Given the description of an element on the screen output the (x, y) to click on. 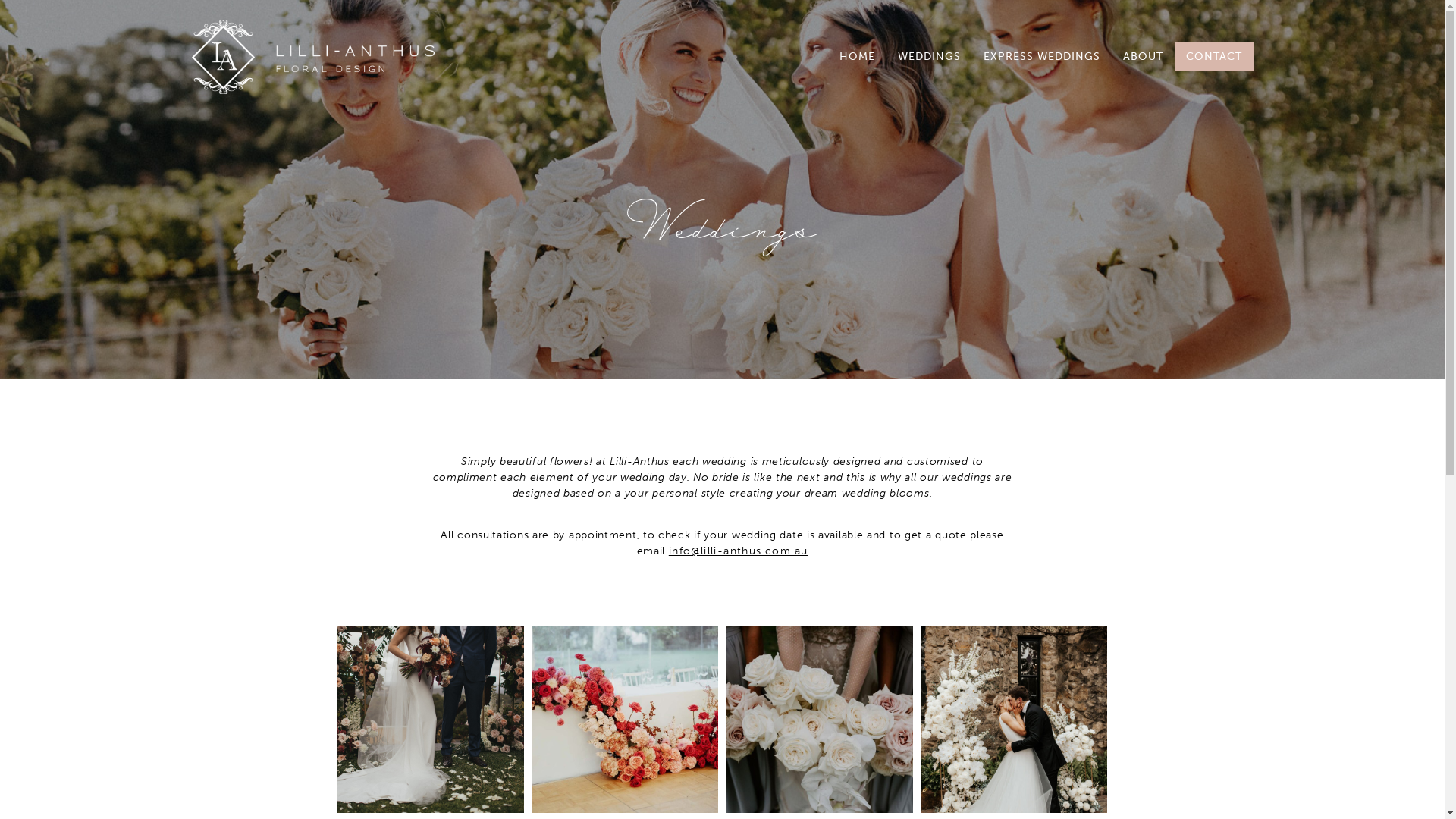
ABOUT Element type: text (1142, 56)
HOME Element type: text (857, 56)
CONTACT Element type: text (1212, 56)
info@lilli-anthus.com.au Element type: text (738, 550)
WEDDINGS Element type: text (928, 56)
EXPRESS WEDDINGS Element type: text (1041, 56)
